Given the description of an element on the screen output the (x, y) to click on. 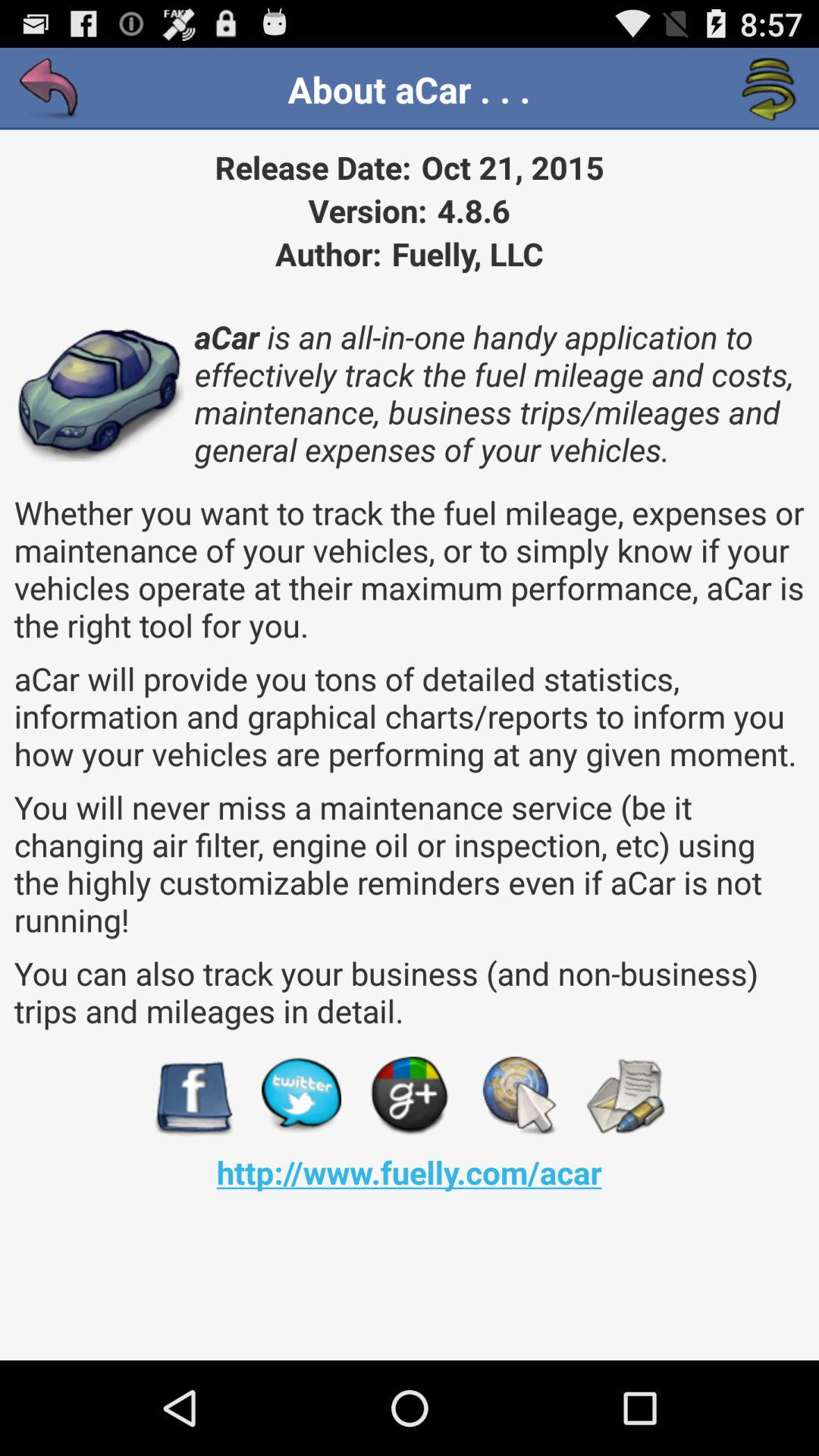
access facebook (193, 1096)
